Given the description of an element on the screen output the (x, y) to click on. 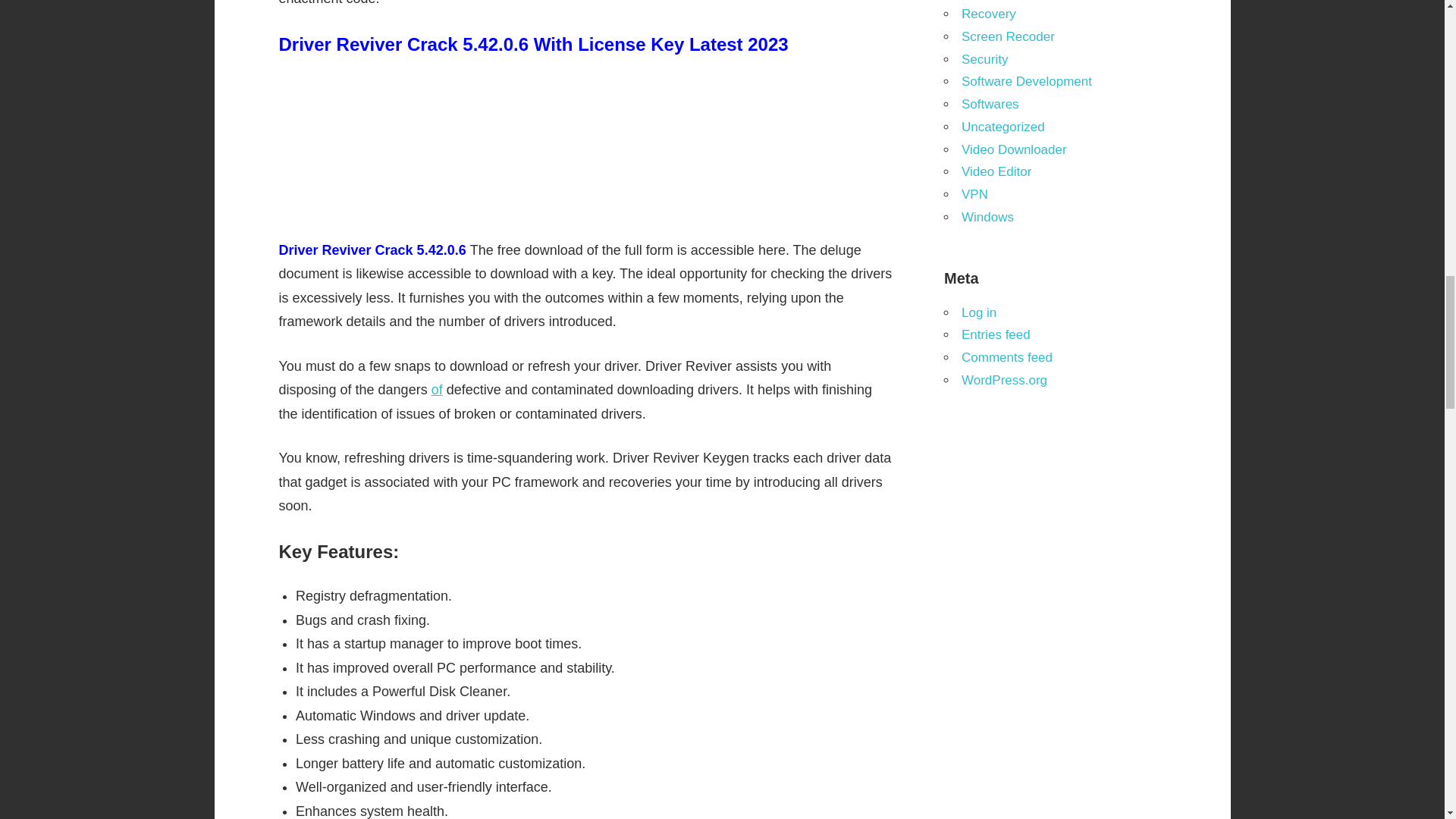
of (436, 389)
